Given the description of an element on the screen output the (x, y) to click on. 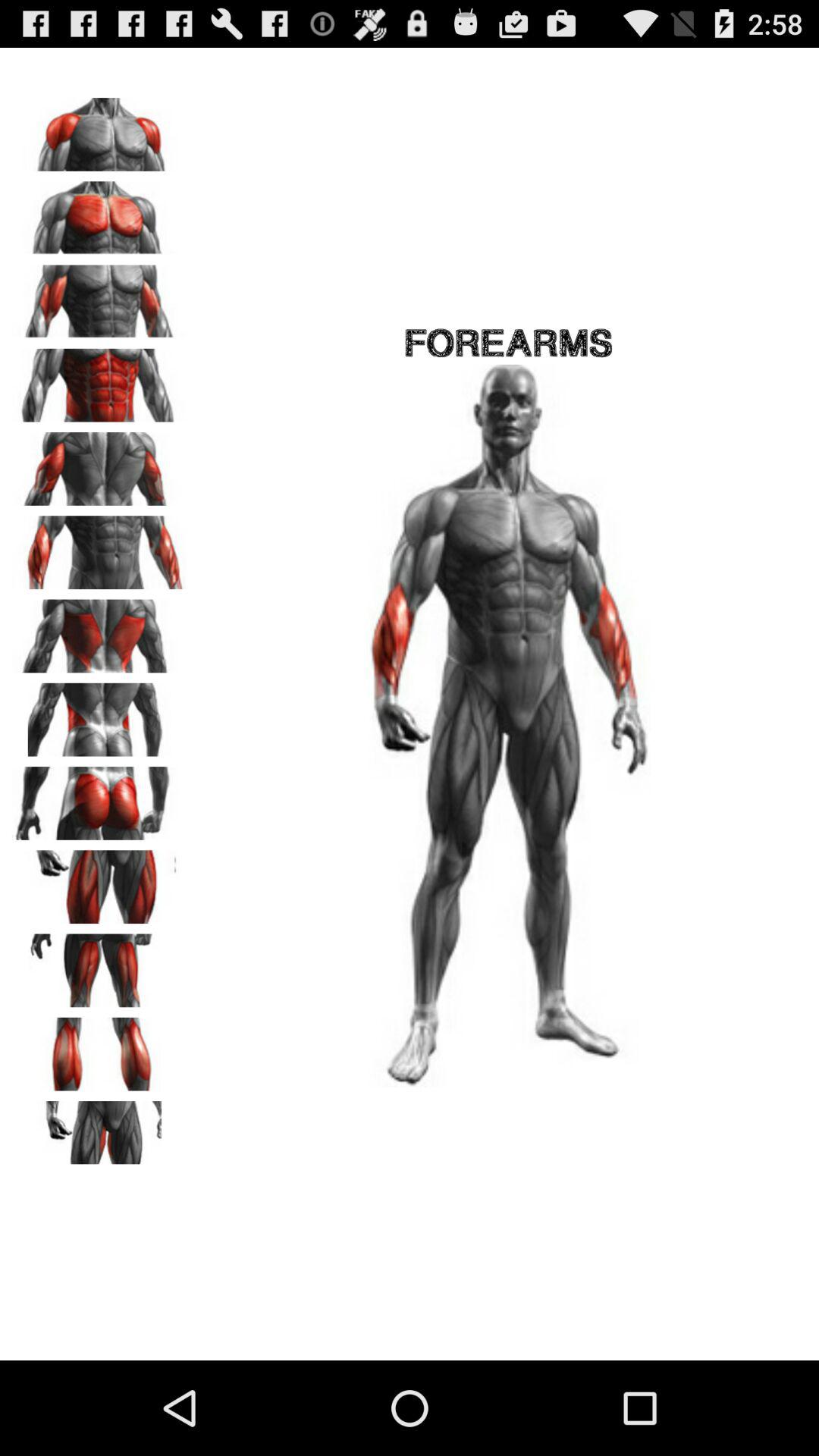
workout abs (99, 380)
